Given the description of an element on the screen output the (x, y) to click on. 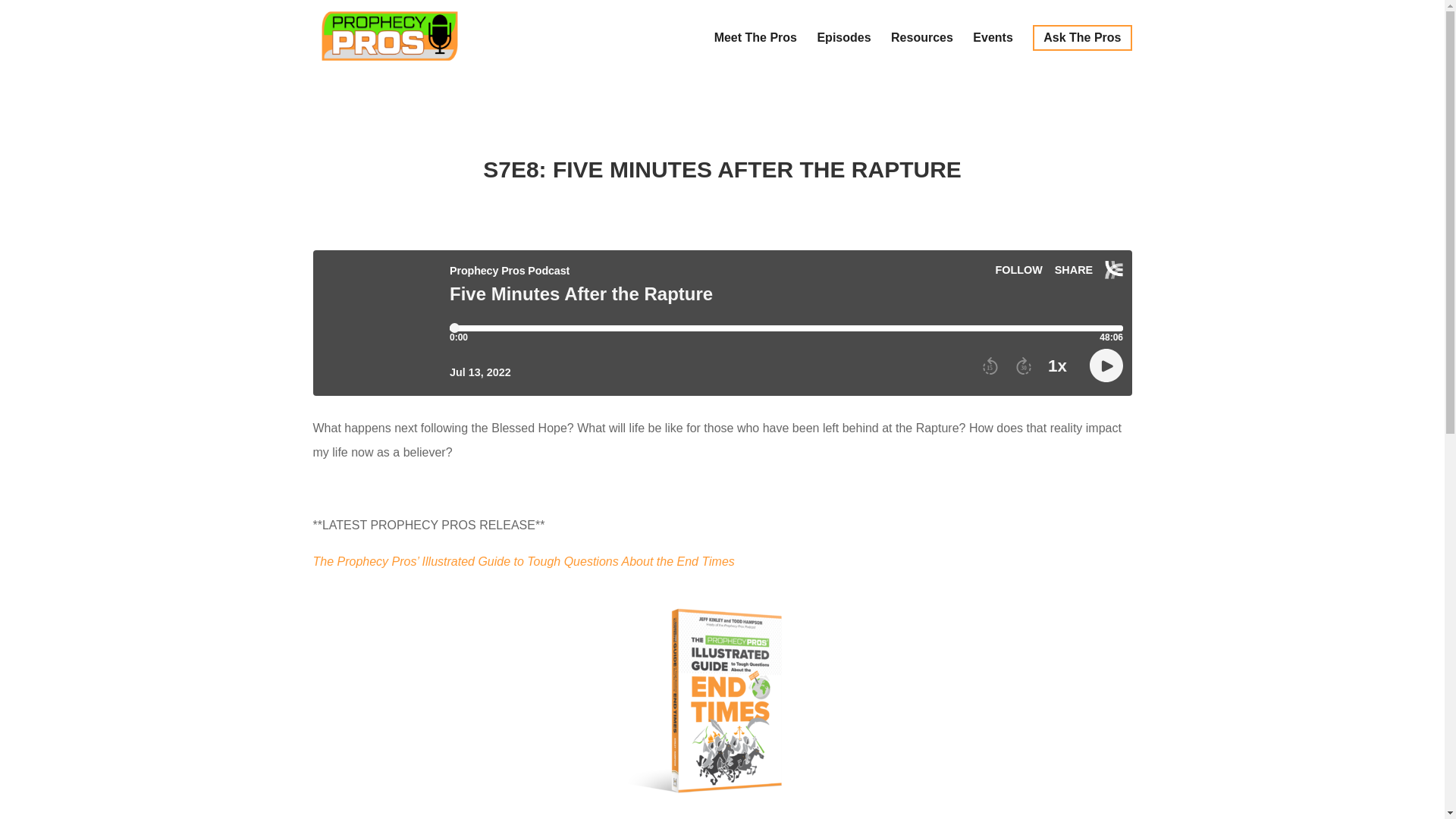
Meet The Pros (755, 49)
Resources (922, 49)
Embed Player (722, 322)
Ask The Pros (1081, 37)
Episodes (843, 49)
Events (991, 49)
